Given the description of an element on the screen output the (x, y) to click on. 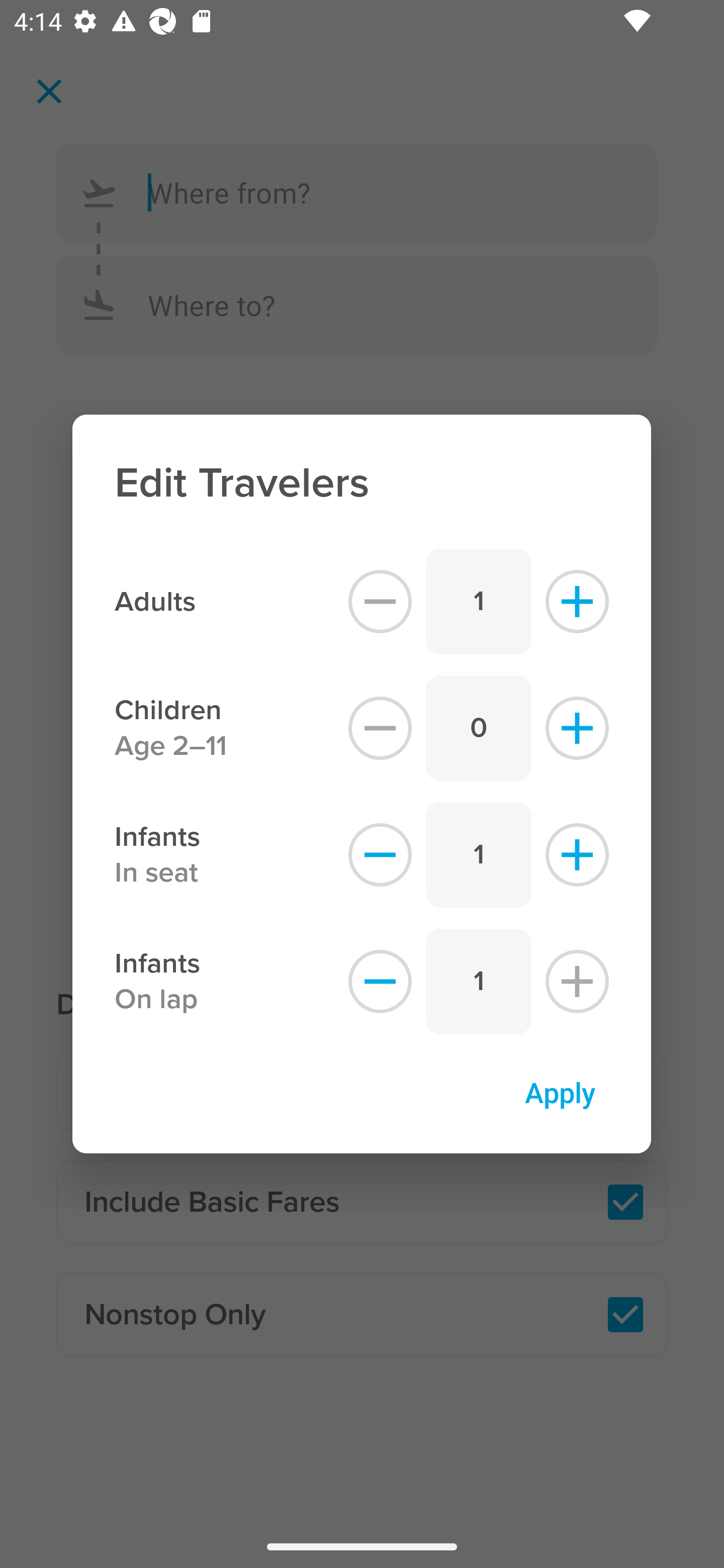
Decrease value (379, 600)
Increase value (576, 600)
Decrease value (379, 727)
Increase value (576, 727)
Decrease value (379, 854)
Increase value (576, 854)
Decrease value (379, 981)
Increase value (576, 981)
Apply (559, 1091)
